Given the description of an element on the screen output the (x, y) to click on. 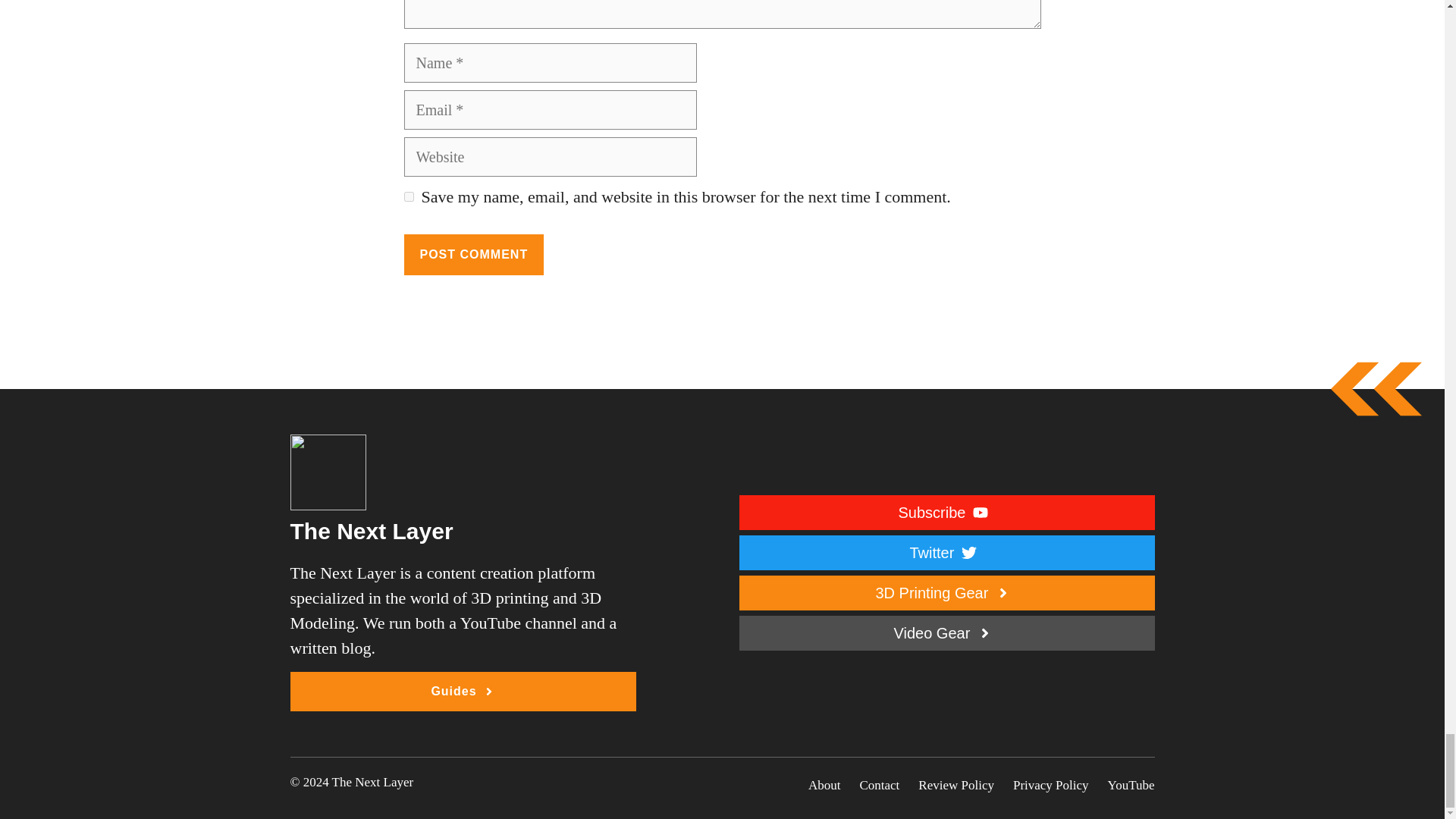
Privacy Policy (1051, 785)
3D Printing Gear (946, 592)
Video Gear (946, 632)
About (824, 785)
Subscribe (946, 512)
YouTube (1131, 785)
Post Comment (473, 254)
Twitter (946, 552)
yes (408, 196)
Post Comment (473, 254)
